Given the description of an element on the screen output the (x, y) to click on. 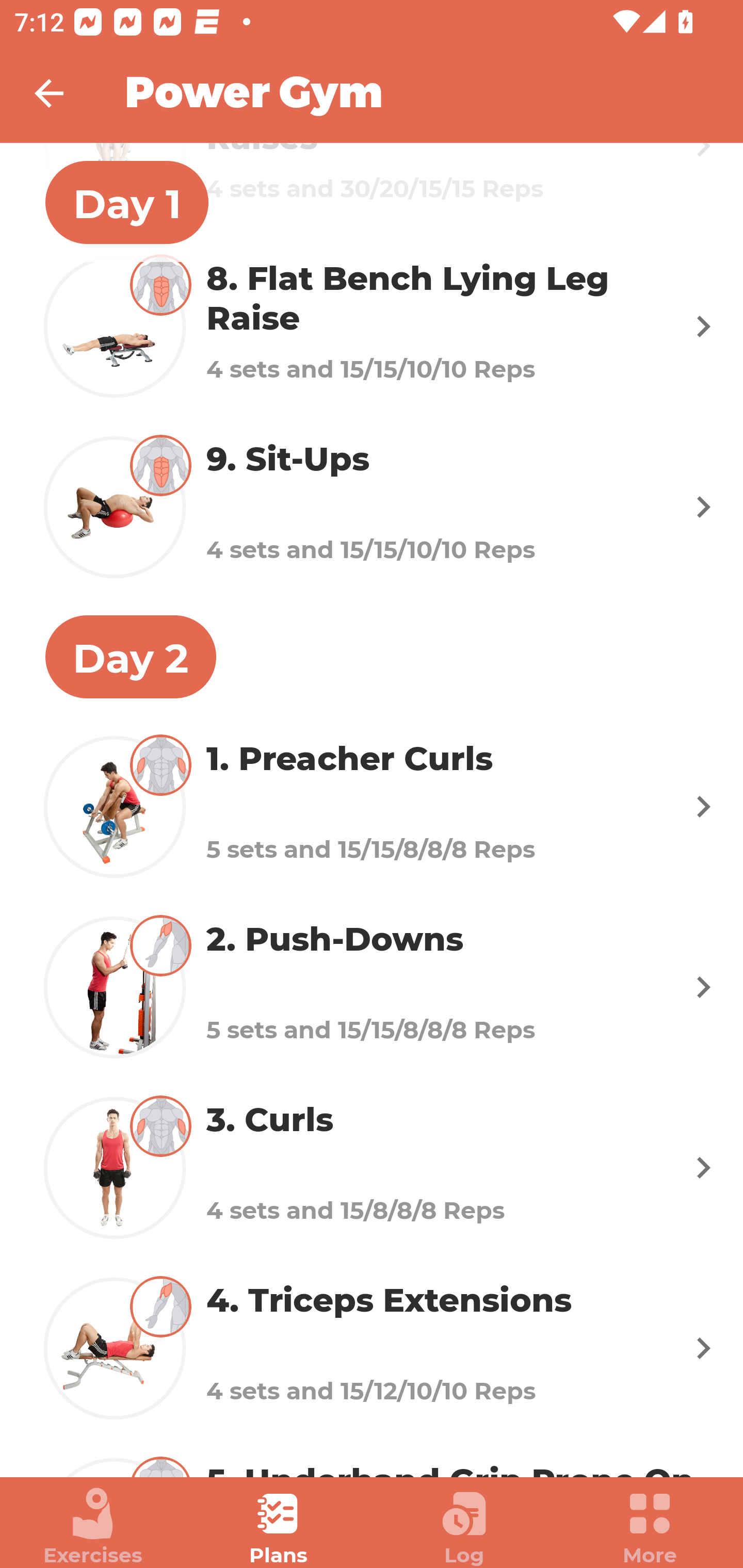
Back (62, 92)
9. Sit-Ups 4 sets and 15/15/10/10 Reps (371, 507)
1. Preacher Curls 5 sets and 15/15/8/8/8 Reps (371, 806)
2. Push-Downs 5 sets and 15/15/8/8/8 Reps (371, 986)
3. Curls 4 sets and 15/8/8/8 Reps (371, 1167)
4. Triceps Extensions 4 sets and 15/12/10/10 Reps (371, 1347)
Exercises (92, 1527)
Plans (278, 1527)
Log (464, 1527)
More (650, 1527)
